Given the description of an element on the screen output the (x, y) to click on. 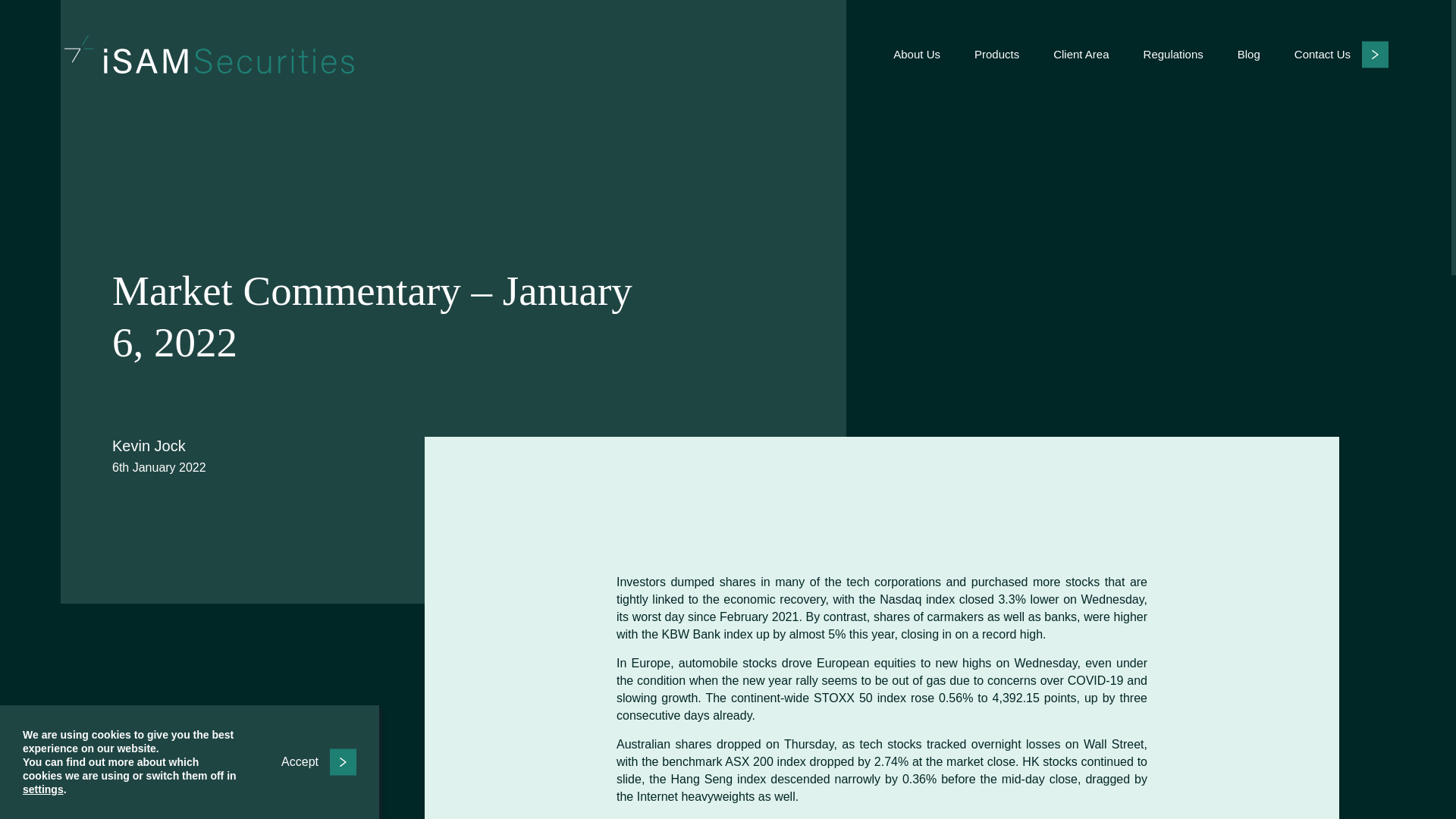
Products (996, 53)
settings (43, 789)
Contact Us (1341, 53)
Client Area (1080, 53)
Accept (318, 761)
Regulations (1173, 53)
About Us (916, 53)
Blog (1248, 53)
